Given the description of an element on the screen output the (x, y) to click on. 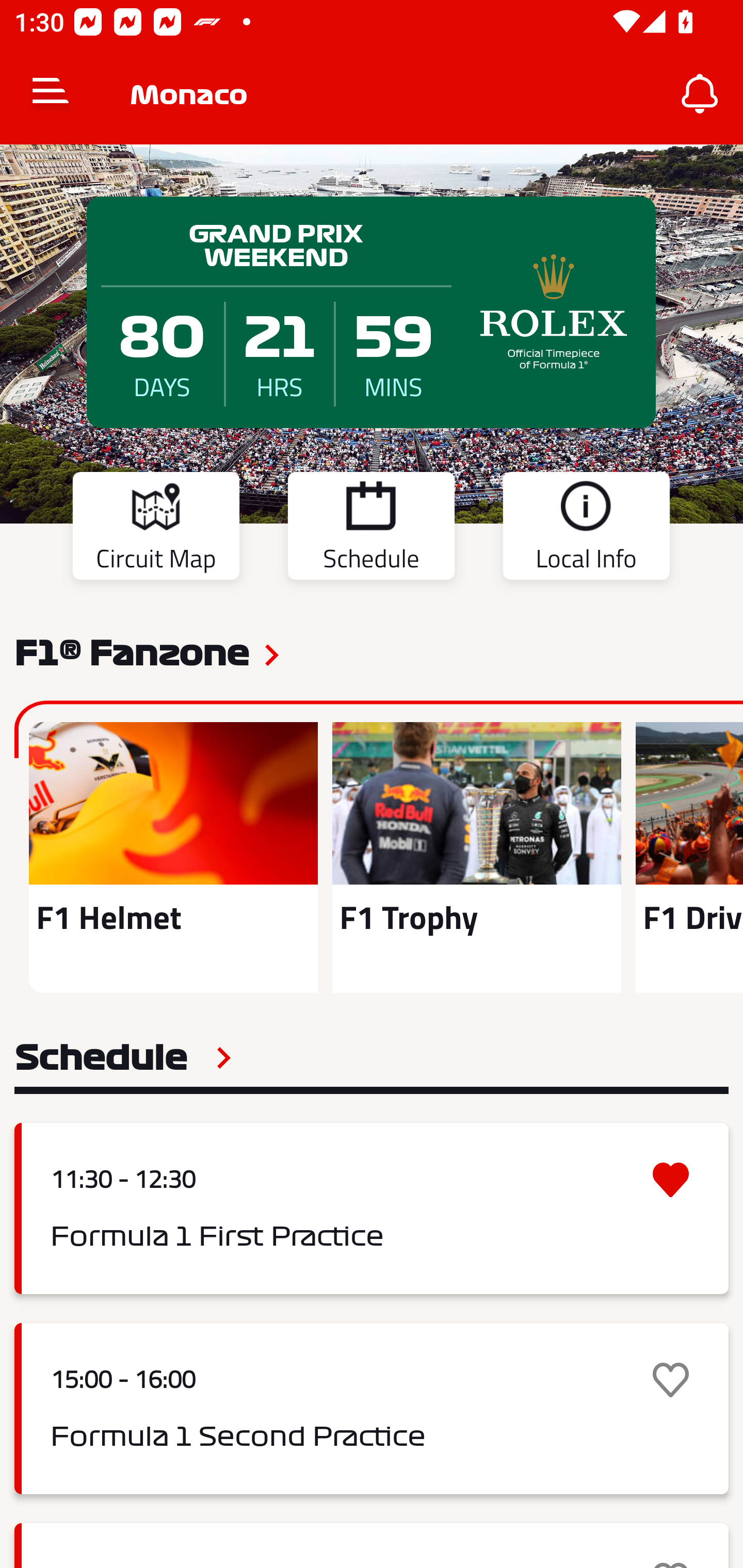
Navigate up (50, 93)
Notifications (699, 93)
Circuit Map (155, 528)
Schedule (370, 528)
Local Info (586, 528)
F1® Fanzone (131, 651)
F1 Helmet (173, 857)
F1 Trophy (476, 857)
Schedule (122, 1057)
11:30 - 12:30 Formula 1 First Practice (371, 1207)
15:00 - 16:00 Formula 1 Second Practice (371, 1408)
